Given the description of an element on the screen output the (x, y) to click on. 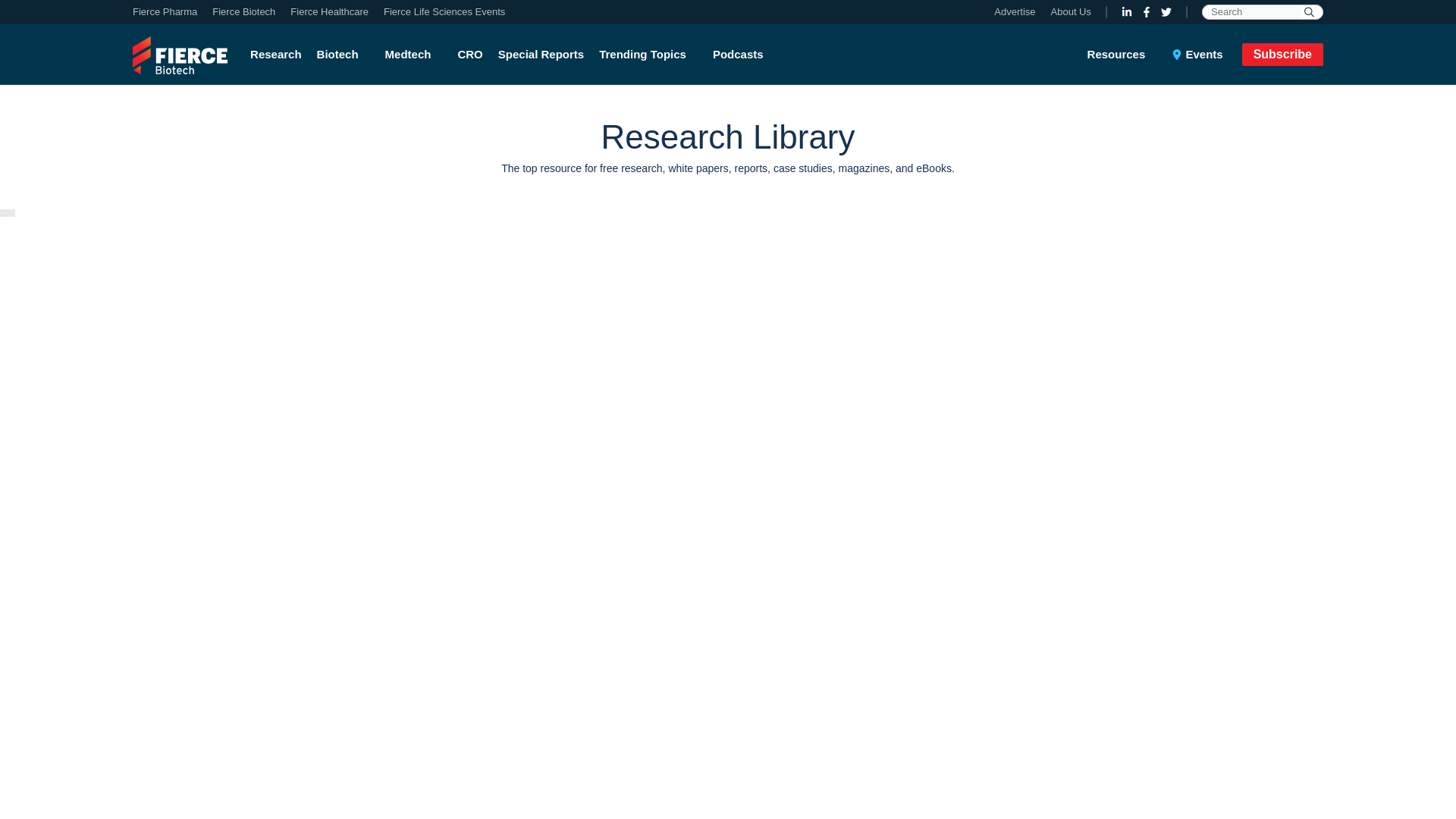
Resources (1125, 54)
Biotech (342, 54)
Advertise (1018, 12)
Podcasts (737, 54)
Fierce Healthcare (328, 12)
Resources (1125, 54)
Life Sciences Events (440, 12)
Fierce Life Sciences Events (440, 12)
Medtech (413, 54)
CRO (469, 54)
Biotech (342, 54)
Fierce Biotech (243, 12)
Research (279, 54)
Fierce Pharma (168, 12)
Special Reports (540, 54)
